Given the description of an element on the screen output the (x, y) to click on. 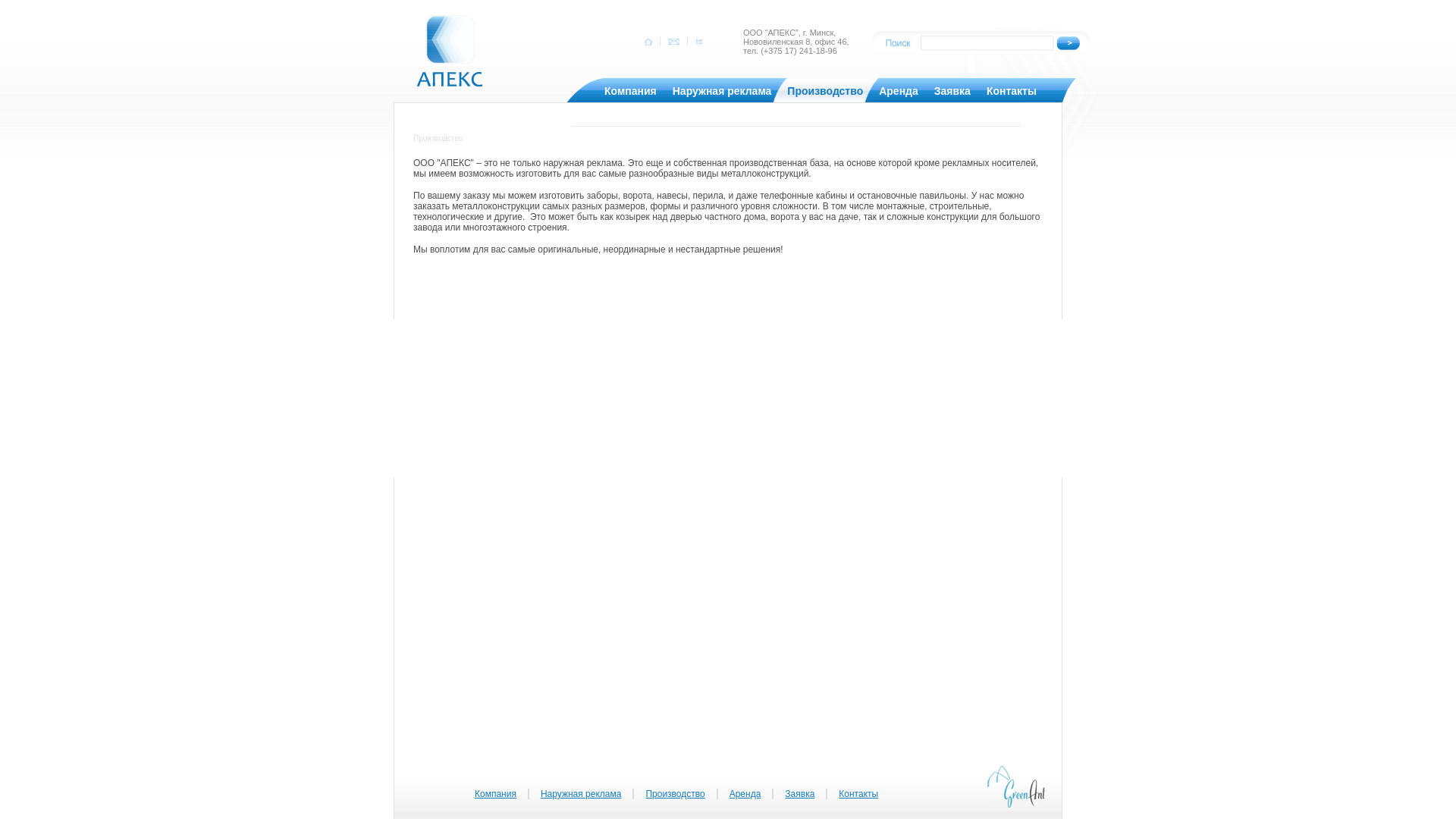
  Element type: text (673, 41)
  Element type: text (649, 41)
  Element type: text (697, 41)
